Given the description of an element on the screen output the (x, y) to click on. 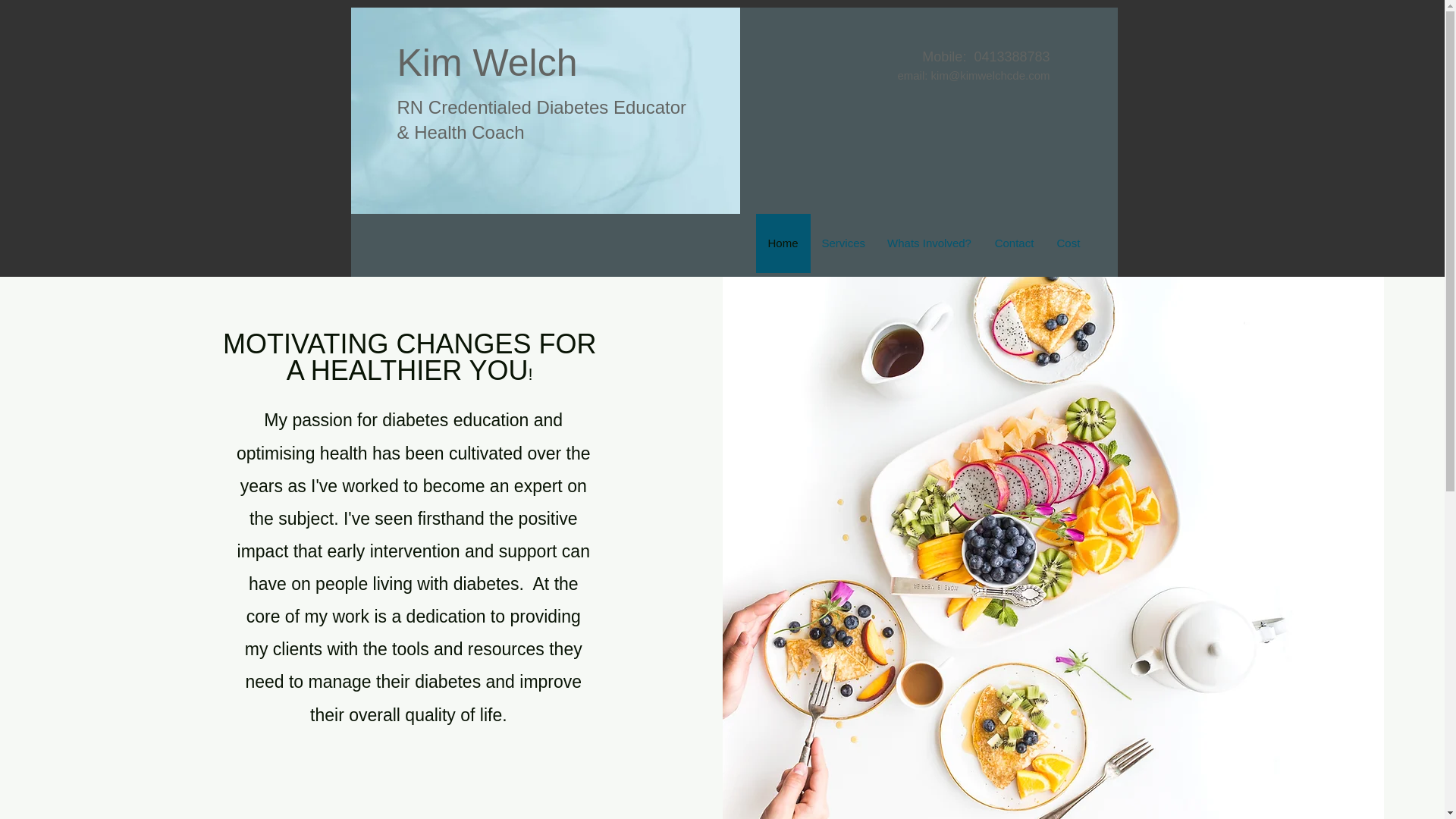
Home (782, 242)
Services (842, 242)
Contact (1013, 242)
Whats Involved? (928, 242)
